Given the description of an element on the screen output the (x, y) to click on. 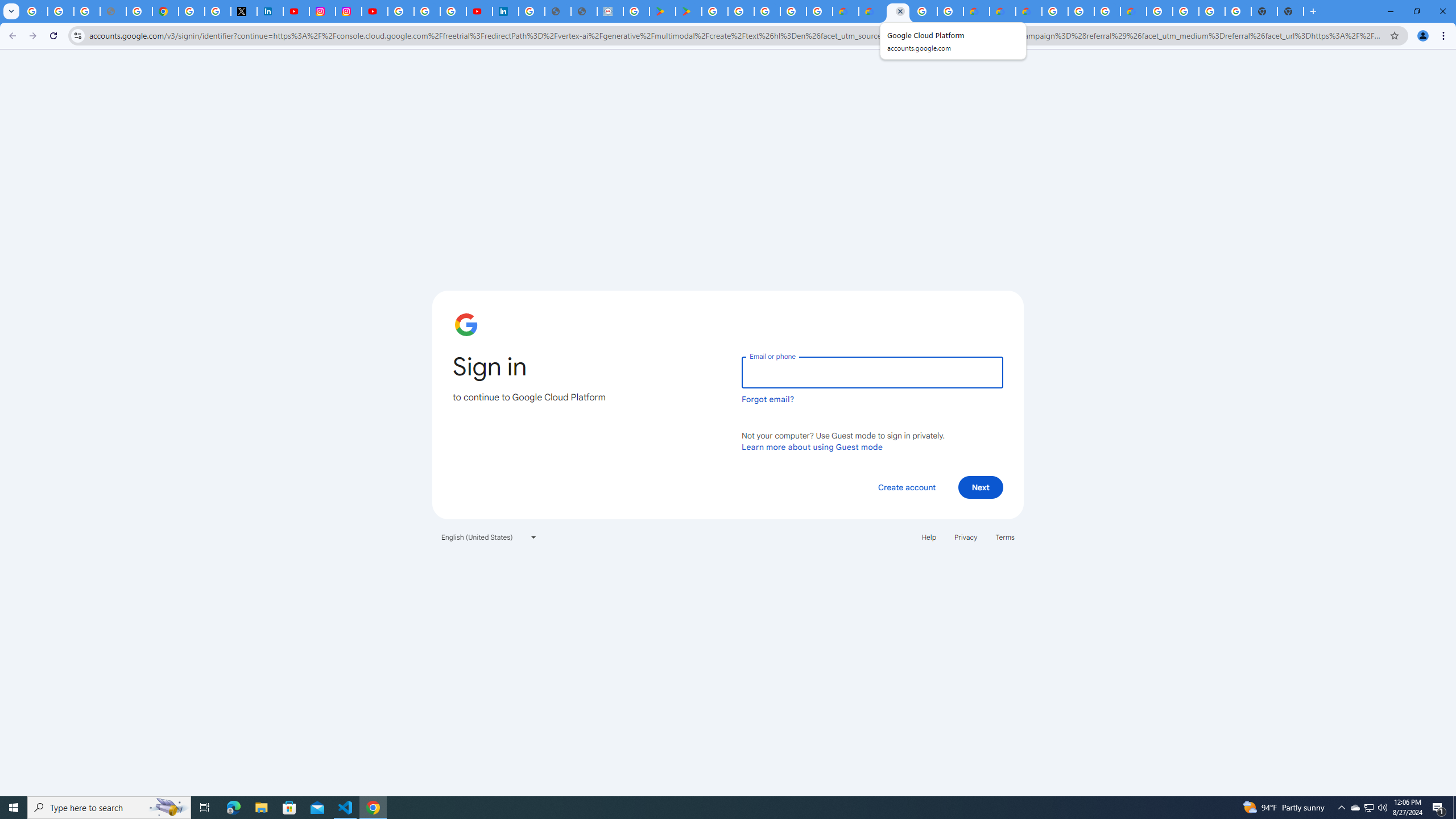
Sign in - Google Accounts (400, 11)
LinkedIn Privacy Policy (269, 11)
User Details (584, 11)
Privacy Help Center - Policies Help (138, 11)
Data Privacy Framework (610, 11)
Browse Chrome as a guest - Computer - Google Chrome Help (1107, 11)
Google Cloud Estimate Summary (1028, 11)
Customer Care | Google Cloud (976, 11)
